Given the description of an element on the screen output the (x, y) to click on. 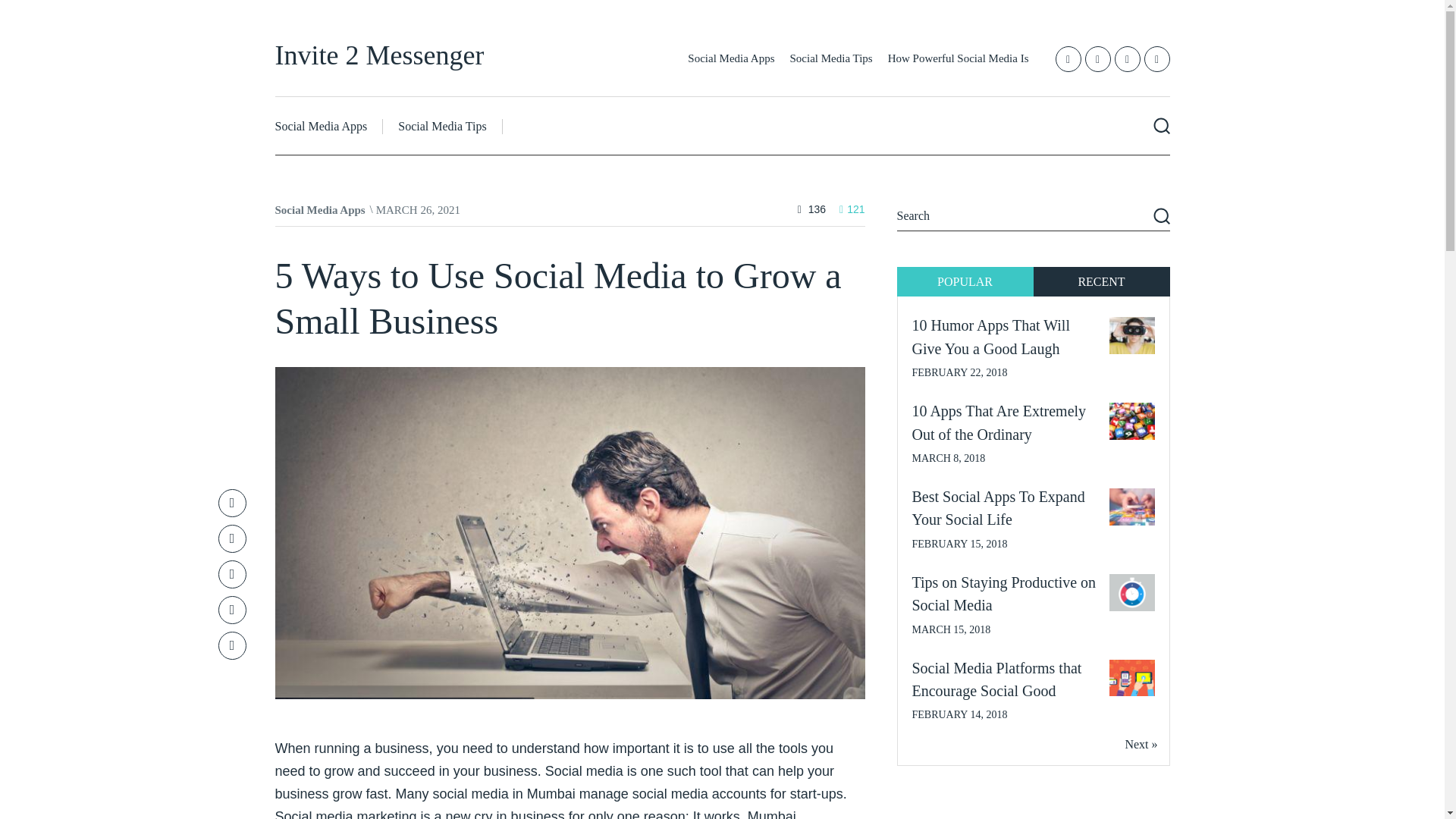
View all posts in Social Media Apps (320, 209)
Social Media Apps (730, 58)
10 Apps That Are Extremely Out of the Ordinary (998, 422)
10 Humor Apps That Will Give You a Good Laugh (989, 336)
Social Media Apps (320, 209)
10 Apps That Are Extremely Out of the Ordinary (998, 422)
Tips on Staying Productive on Social Media (1003, 593)
Invite 2 Messenger (379, 54)
Like (852, 209)
Social Media Tips (831, 58)
